Given the description of an element on the screen output the (x, y) to click on. 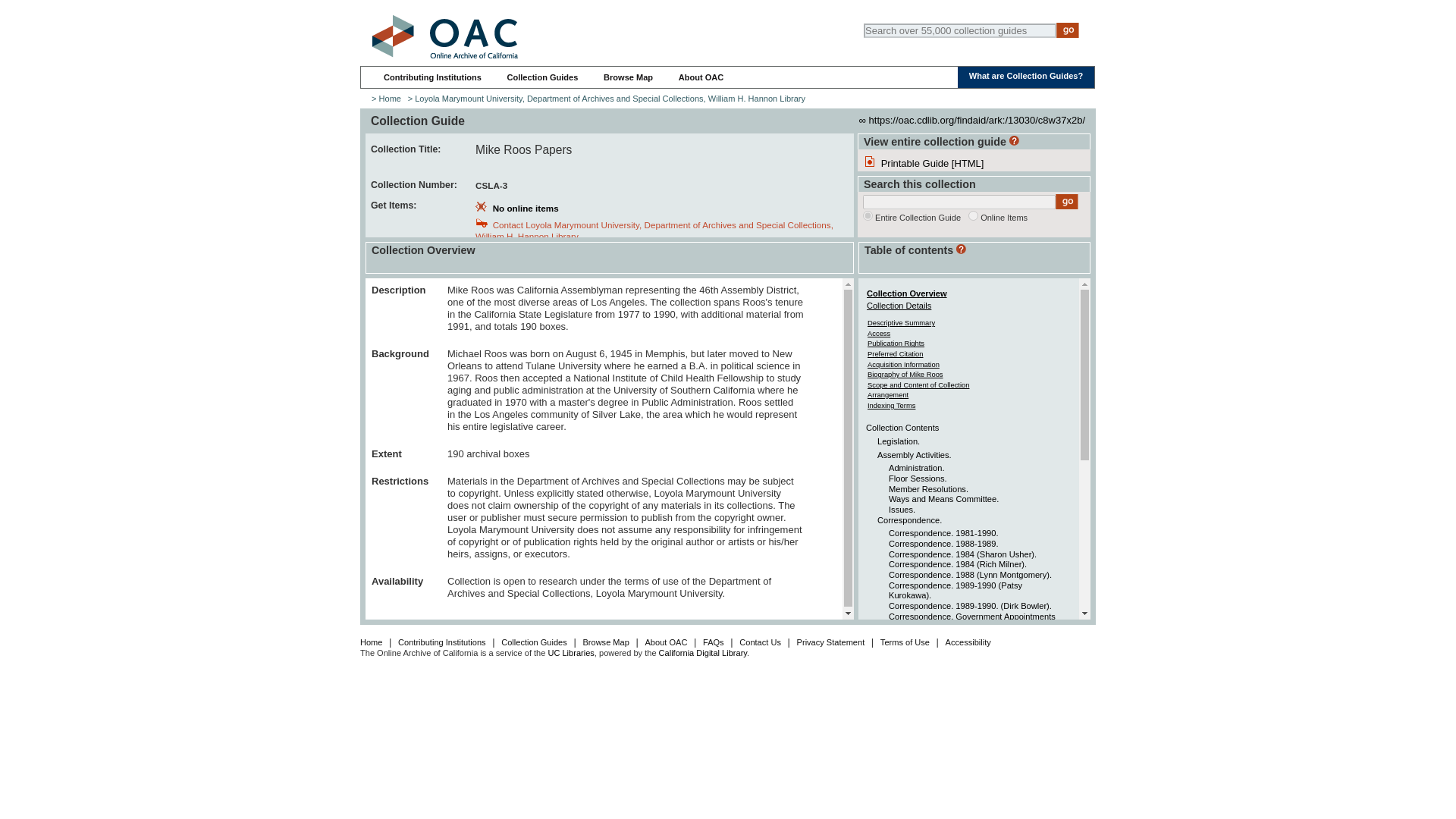
What are Collection Guides? (1026, 75)
Collection Details (898, 305)
Biography of Mike Roos (905, 374)
Access (878, 333)
Administration. (915, 467)
search (973, 215)
Assembly Activities. (914, 454)
Browse Map (628, 76)
Publication Rights (895, 343)
Search (1067, 29)
Member Resolutions. (928, 488)
Preferred Citation (895, 353)
Issues. (901, 509)
Collection Overview (906, 293)
What's This? (1014, 140)
